Given the description of an element on the screen output the (x, y) to click on. 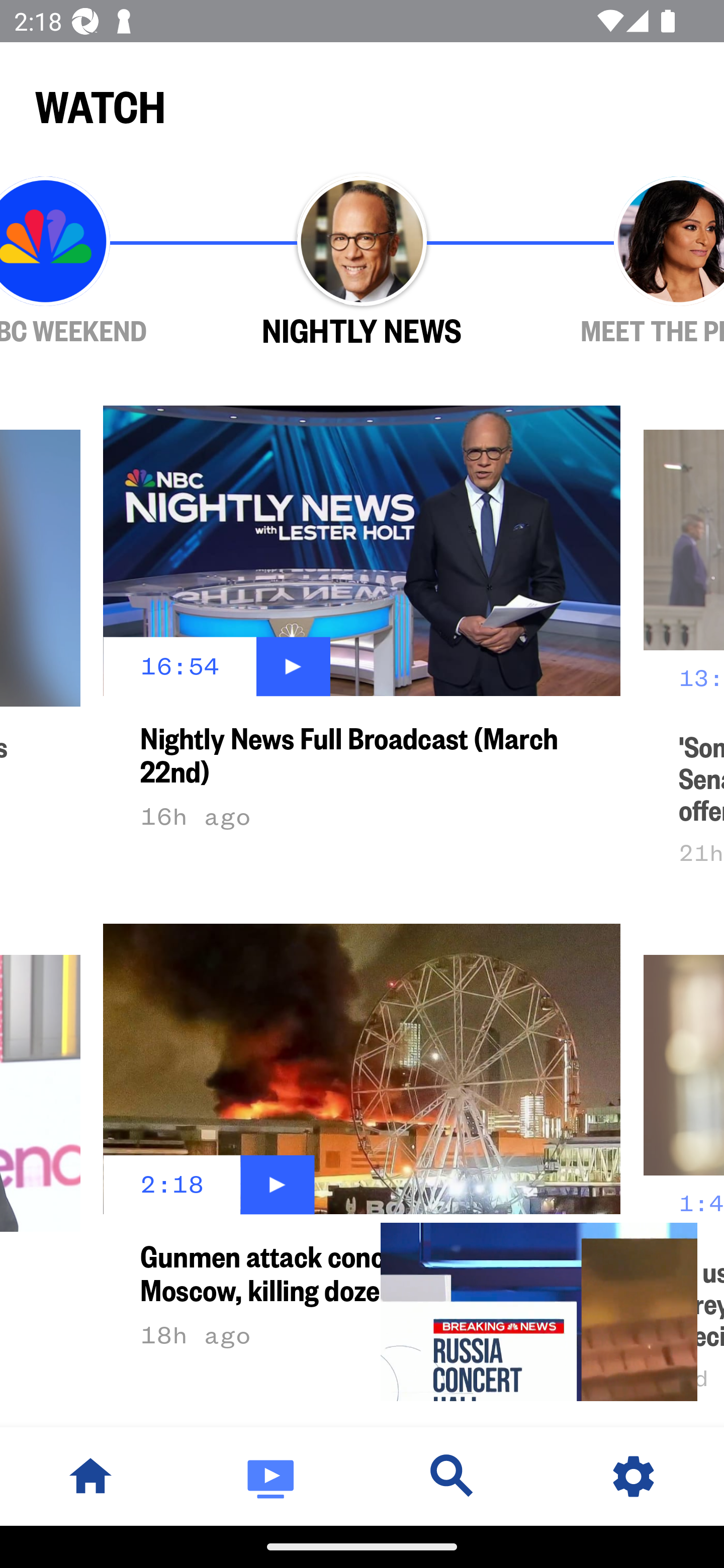
MSNBC WEEKEND (101, 261)
NIGHTLY NEWS (361, 261)
MEET THE PRESS (622, 261)
Video, Nightly News Full Broadcast (March 22nd) (538, 1312)
NBC News Home (90, 1475)
Discover (452, 1475)
Settings (633, 1475)
